Given the description of an element on the screen output the (x, y) to click on. 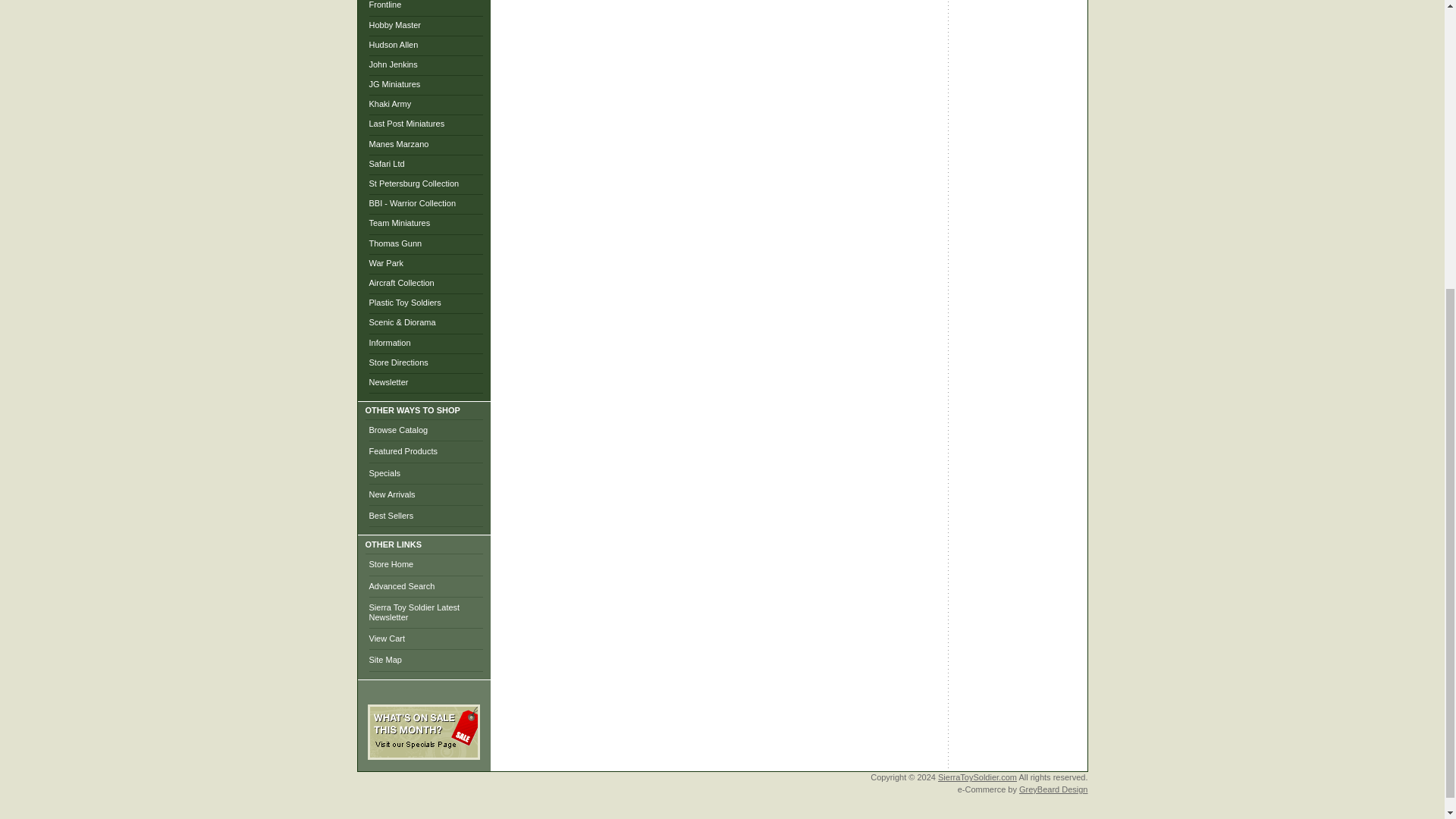
John Jenkins (392, 63)
Hobby Master (394, 24)
Frontline (384, 4)
Last Post Miniatures (406, 122)
JG Miniatures (394, 83)
St Petersburg Collection (413, 183)
Khaki Army (389, 103)
Manes Marzano (398, 143)
Safari Ltd (386, 163)
Hudson Allen (392, 44)
